Given the description of an element on the screen output the (x, y) to click on. 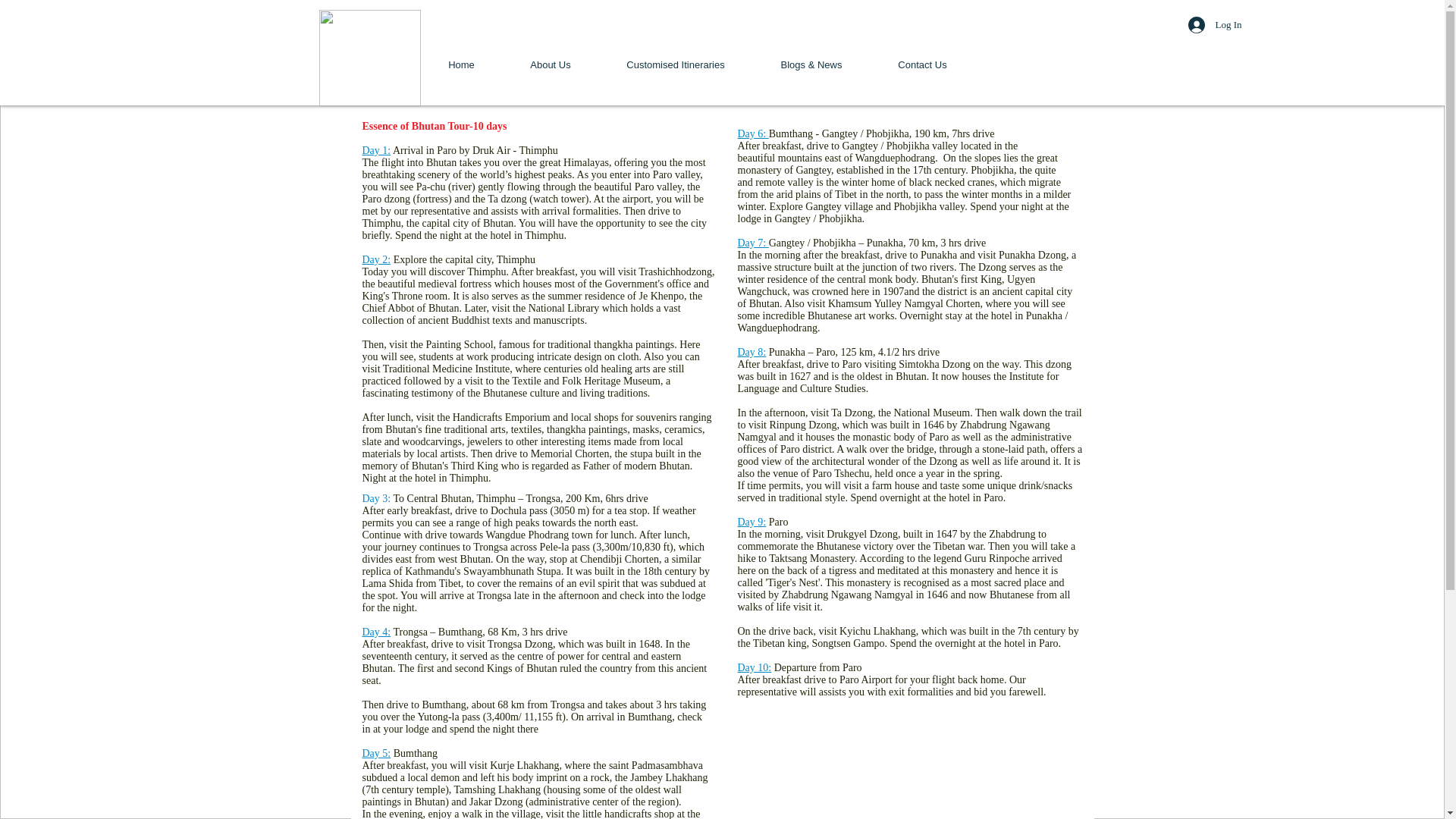
About Us (550, 64)
Home (461, 64)
Contact Us (922, 64)
Log In (1203, 24)
Customised Itineraries (675, 64)
